Given the description of an element on the screen output the (x, y) to click on. 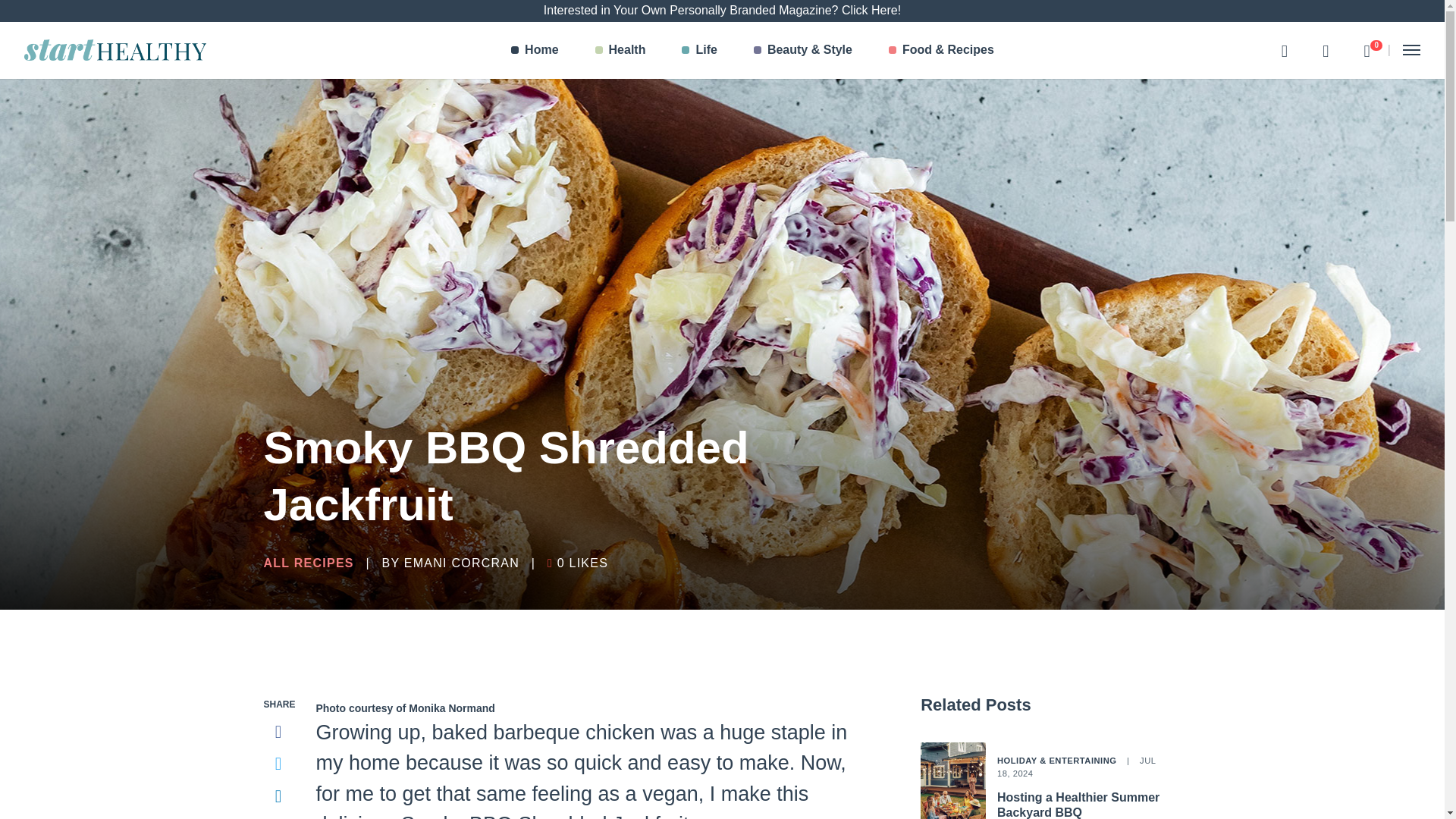
ALL RECIPES (308, 562)
More (278, 817)
Twitter (278, 764)
Health (1366, 50)
Life (619, 50)
Home (699, 50)
Hosting a Healthier Summer Backyard BBQ (534, 50)
Facebook (1077, 805)
Follow (278, 732)
Search (1324, 50)
LinkedIn (1283, 50)
